Given the description of an element on the screen output the (x, y) to click on. 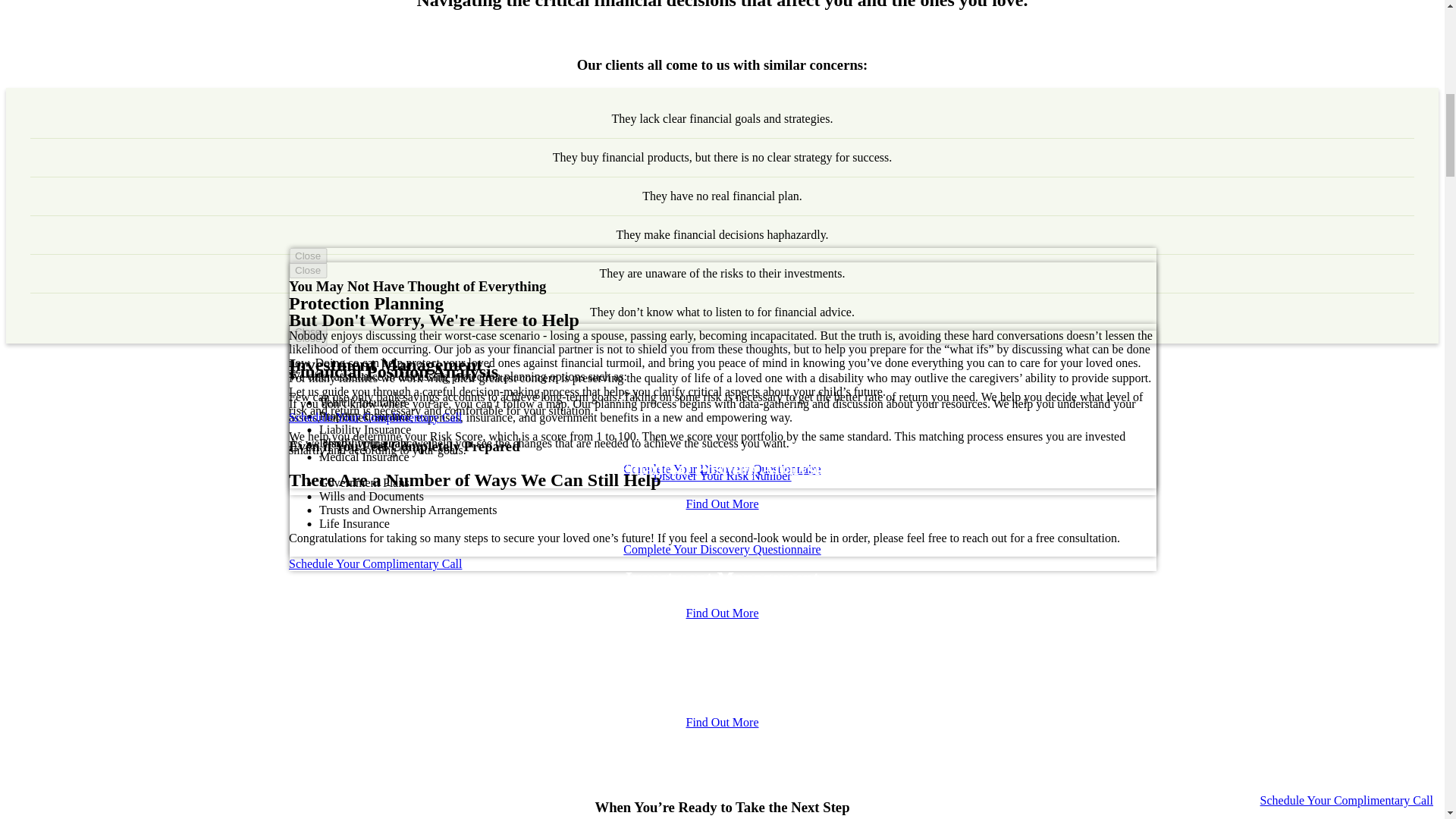
Find Out More (721, 722)
Find Out More (721, 504)
Find Out More (721, 612)
